Given the description of an element on the screen output the (x, y) to click on. 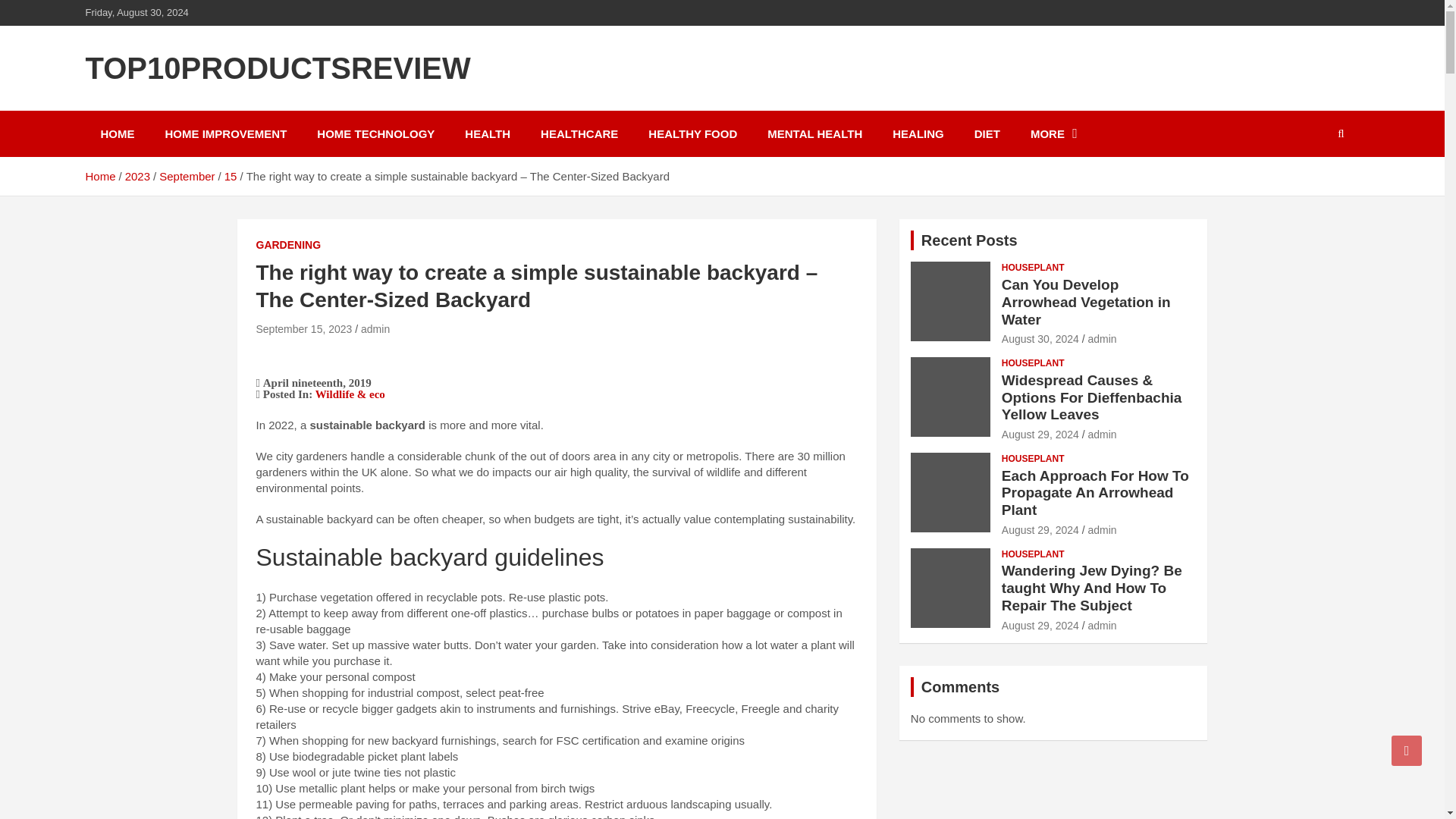
HEALTHY FOOD (692, 133)
HEALING (918, 133)
admin (375, 328)
2023 (137, 175)
MORE (1053, 133)
HOME IMPROVEMENT (225, 133)
GARDENING (288, 245)
September (186, 175)
HOME TECHNOLOGY (375, 133)
15 (230, 175)
